Given the description of an element on the screen output the (x, y) to click on. 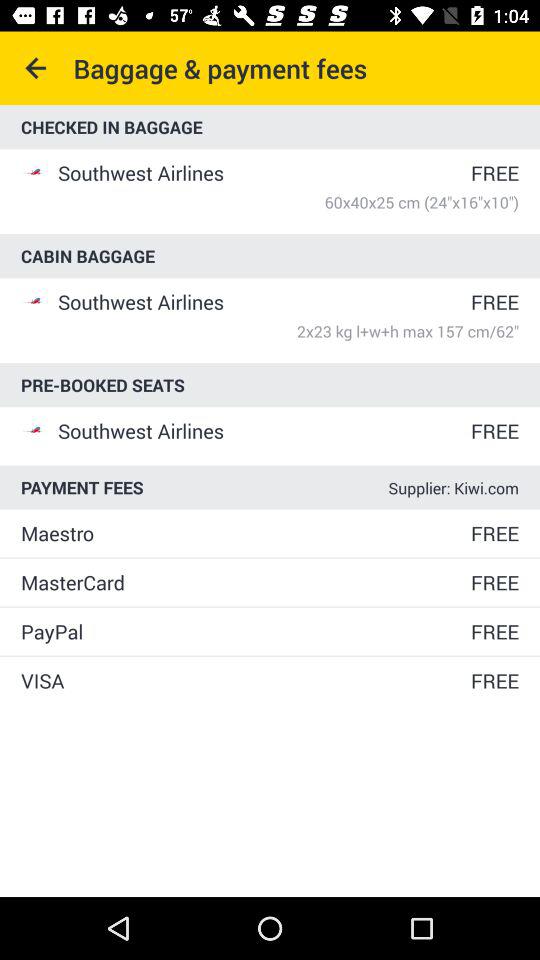
press icon next to the baggage & payment fees icon (36, 68)
